Given the description of an element on the screen output the (x, y) to click on. 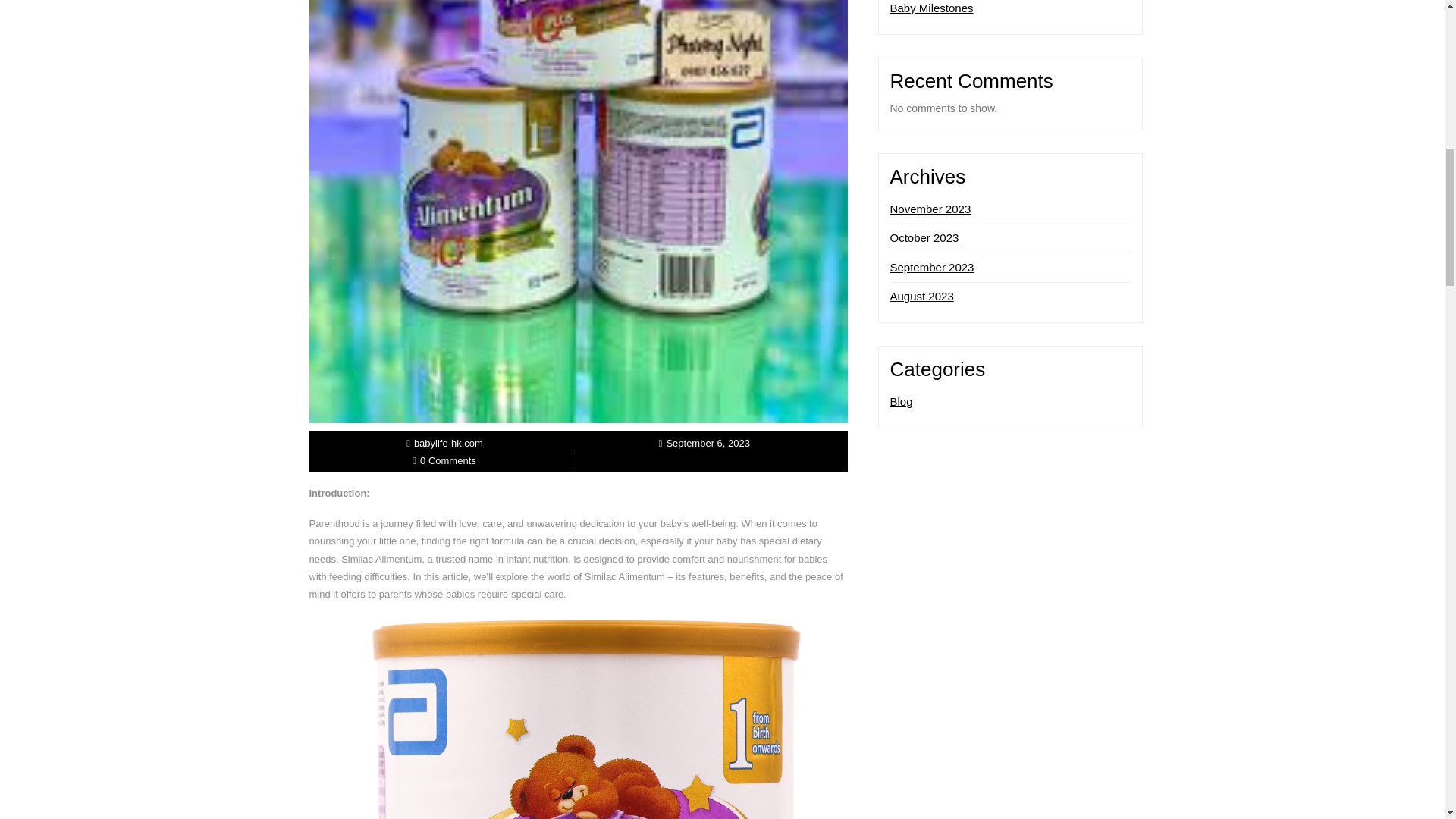
Celebrating Little Victories: Understanding Baby Milestones (995, 7)
September 2023 (931, 267)
August 2023 (921, 295)
October 2023 (924, 237)
TOP (1397, 73)
Blog (900, 400)
November 2023 (930, 208)
